Given the description of an element on the screen output the (x, y) to click on. 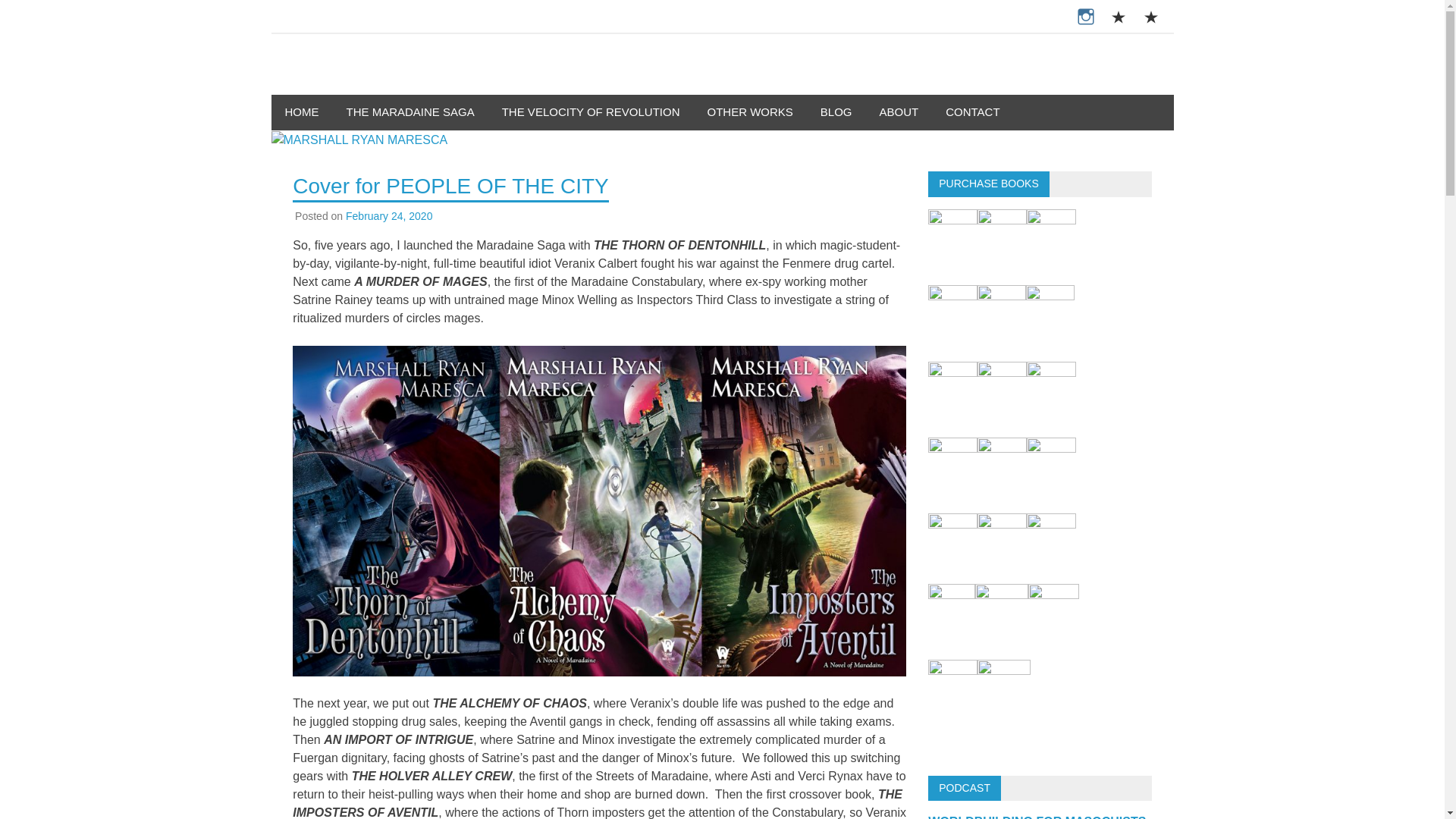
February 24, 2020 (389, 215)
OTHER WORKS (749, 112)
MARSHALL RYAN MARESCA (493, 85)
THE MARADAINE SAGA (409, 112)
THE VELOCITY OF REVOLUTION (590, 112)
ABOUT (899, 112)
HOME (301, 112)
CONTACT (972, 112)
BLOG (836, 112)
8:06 pm (389, 215)
